Given the description of an element on the screen output the (x, y) to click on. 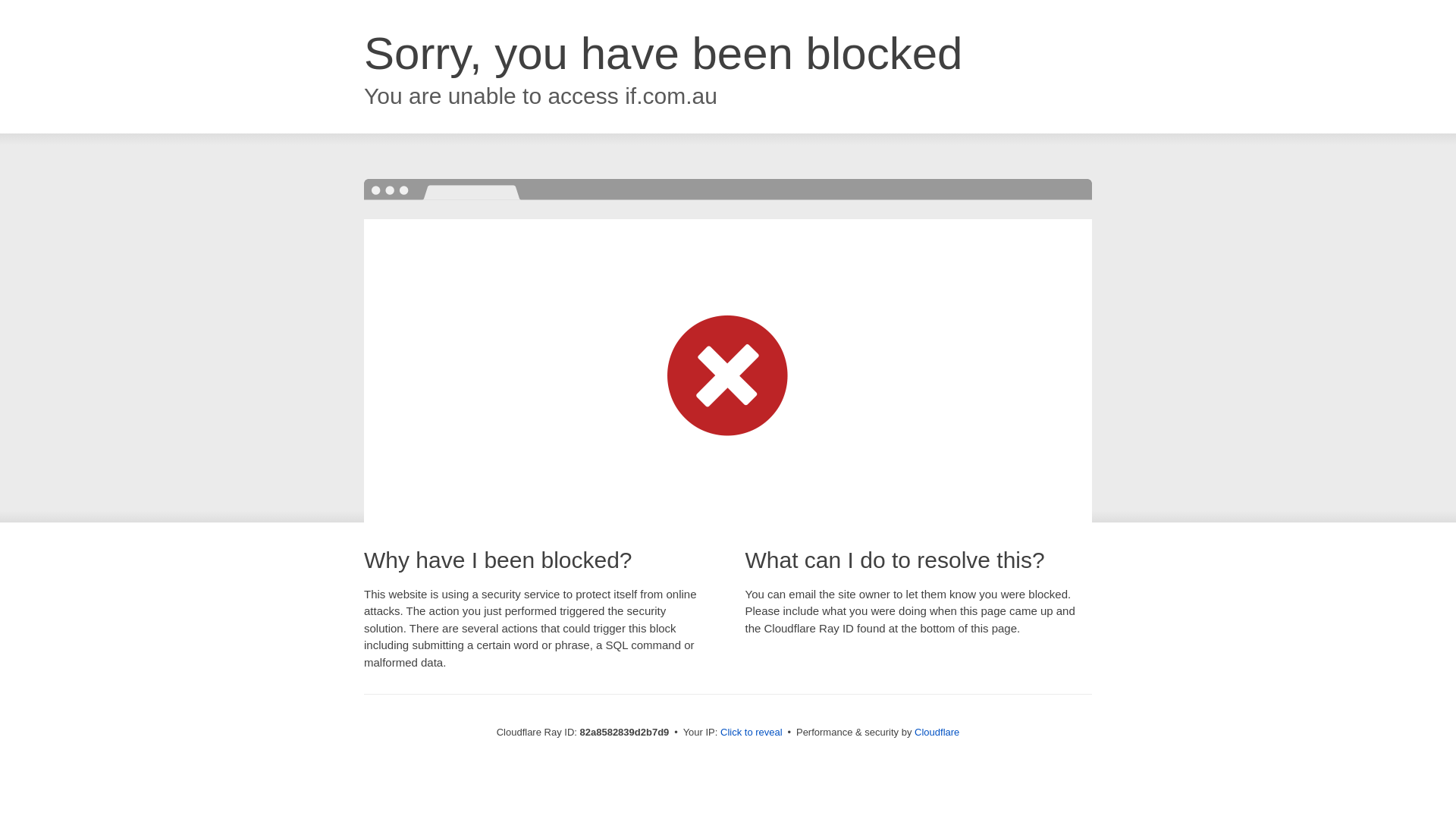
Cloudflare Element type: text (936, 731)
Click to reveal Element type: text (751, 732)
